Given the description of an element on the screen output the (x, y) to click on. 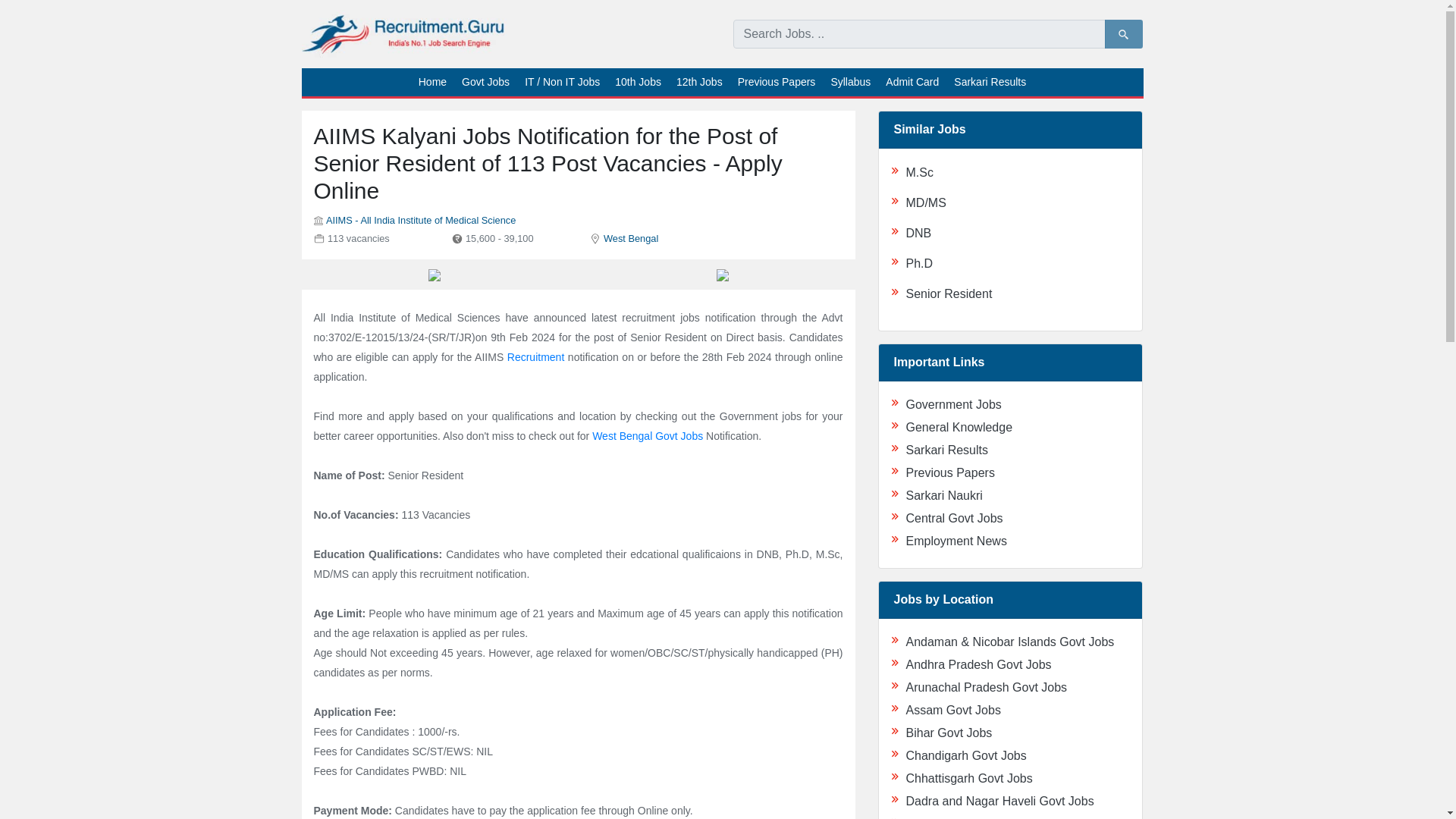
West Bengal Govt Jobs (647, 435)
West Bengal (631, 238)
 Senior Resident jobs (948, 293)
Recruitment (535, 357)
Ph.D jobs (919, 263)
DNB (918, 232)
Sarkari Results (989, 81)
10th Jobs (637, 81)
12th Jobs (699, 81)
Home (432, 81)
